Given the description of an element on the screen output the (x, y) to click on. 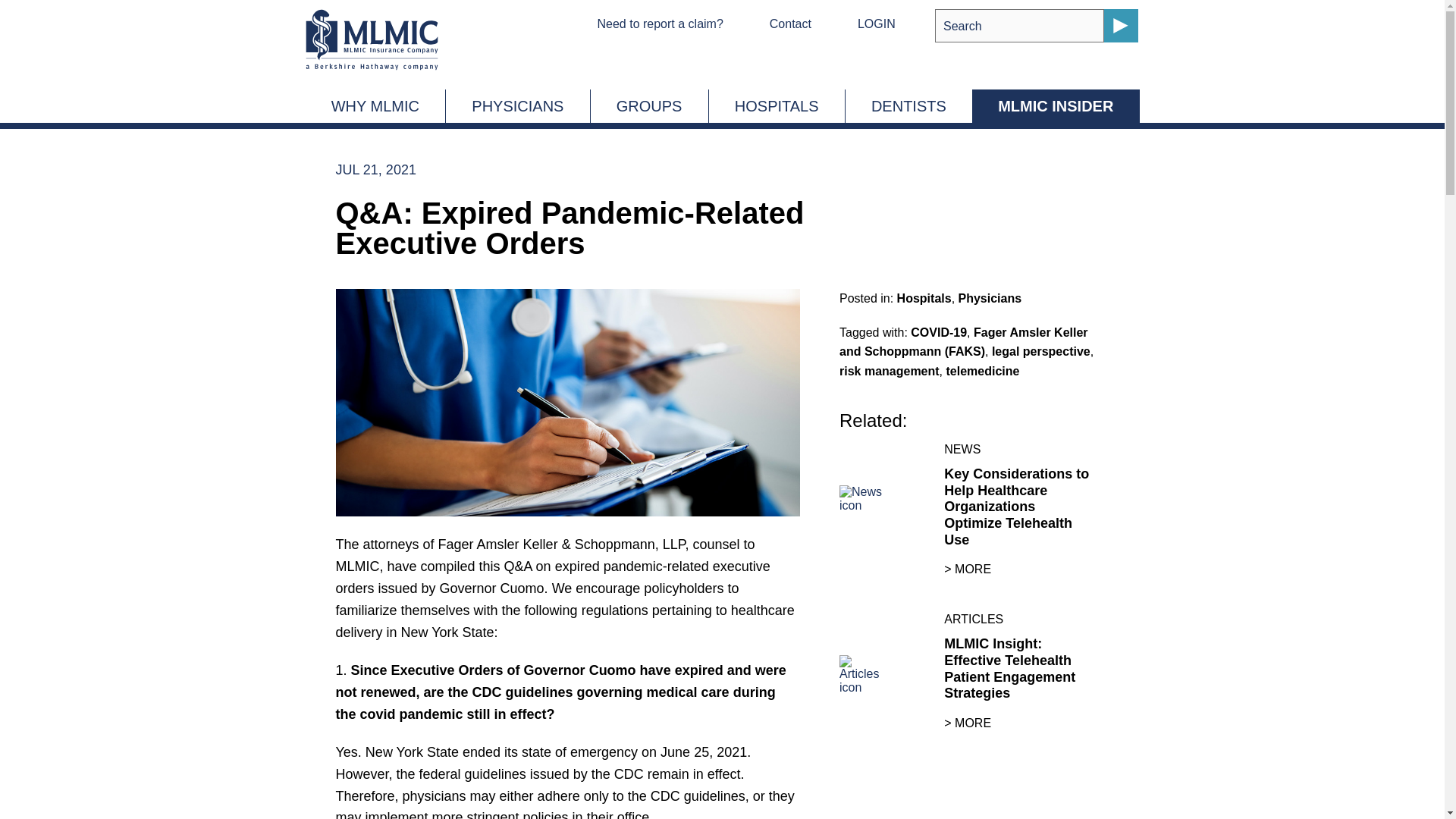
Contact (790, 23)
COVID-19 (938, 332)
Physicians (990, 297)
risk management (889, 370)
PHYSICIANS (517, 105)
LOGIN (876, 23)
telemedicine (983, 370)
GROUPS (649, 105)
legal perspective (1040, 350)
HOSPITALS (776, 105)
DENTISTS (908, 105)
Hospitals (924, 297)
MLMIC INSIDER (1056, 105)
